Given the description of an element on the screen output the (x, y) to click on. 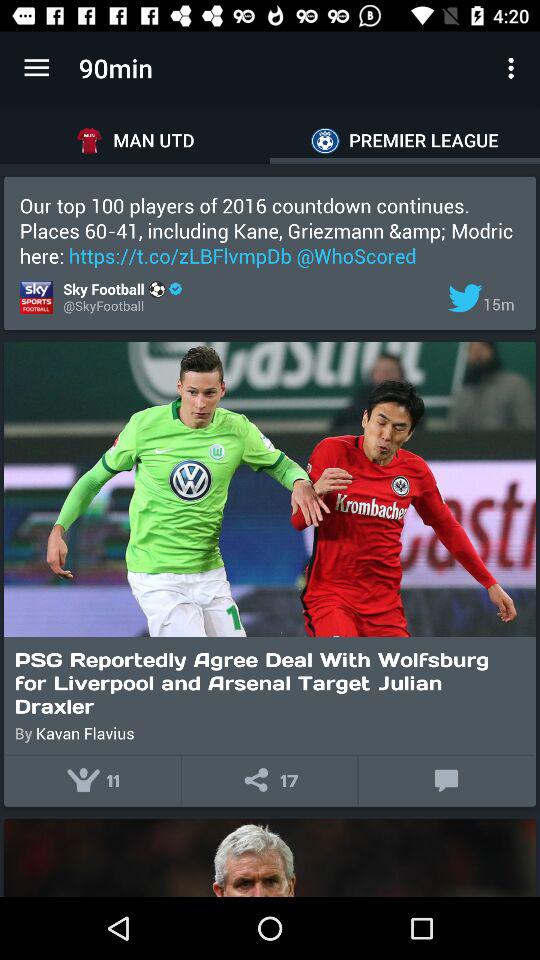
turn on the item to the right of the 90min app (513, 67)
